Given the description of an element on the screen output the (x, y) to click on. 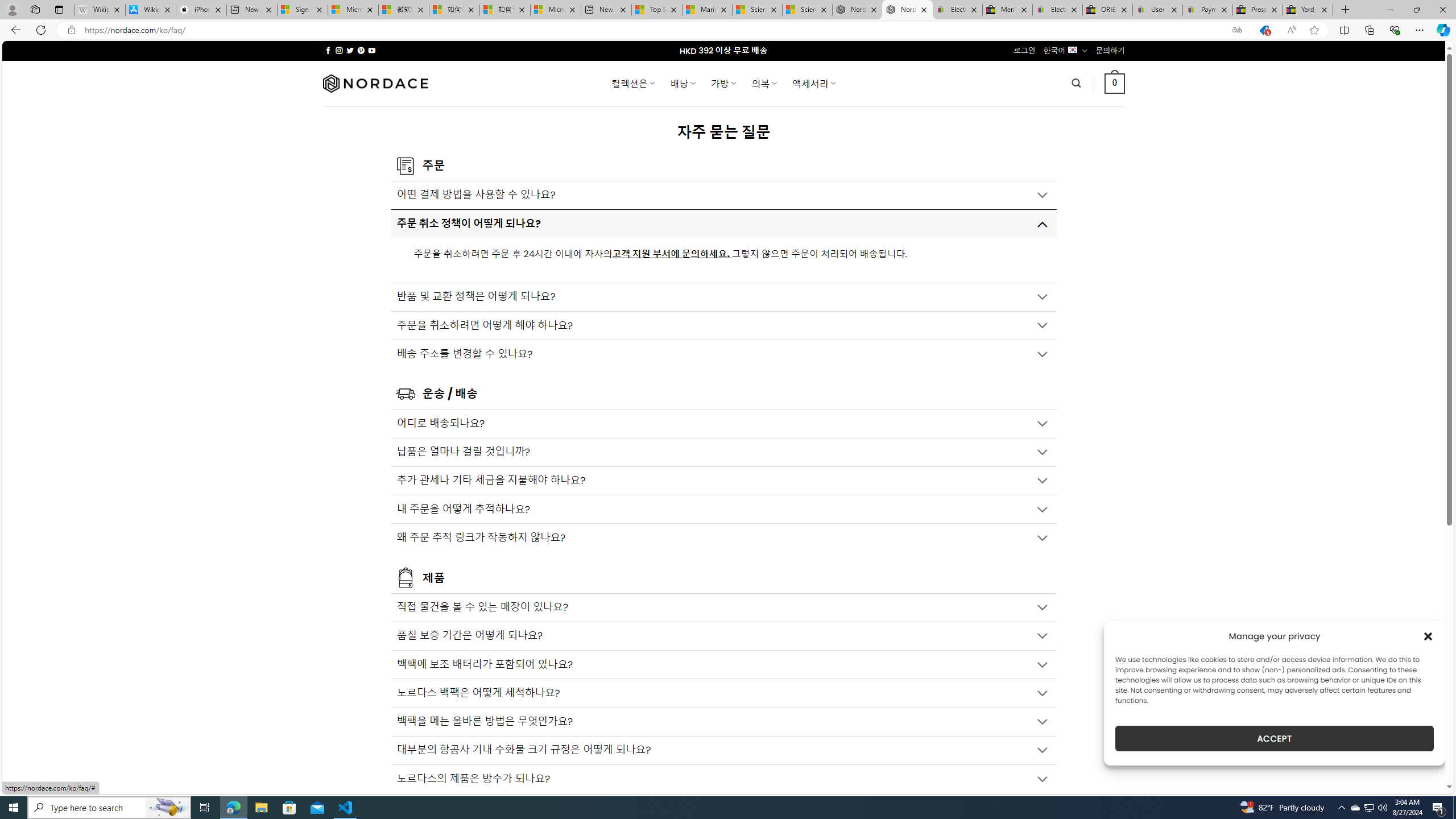
Show translate options (1236, 29)
Microsoft account | Account Checkup (555, 9)
Nordace - Summer Adventures 2024 (856, 9)
